Given the description of an element on the screen output the (x, y) to click on. 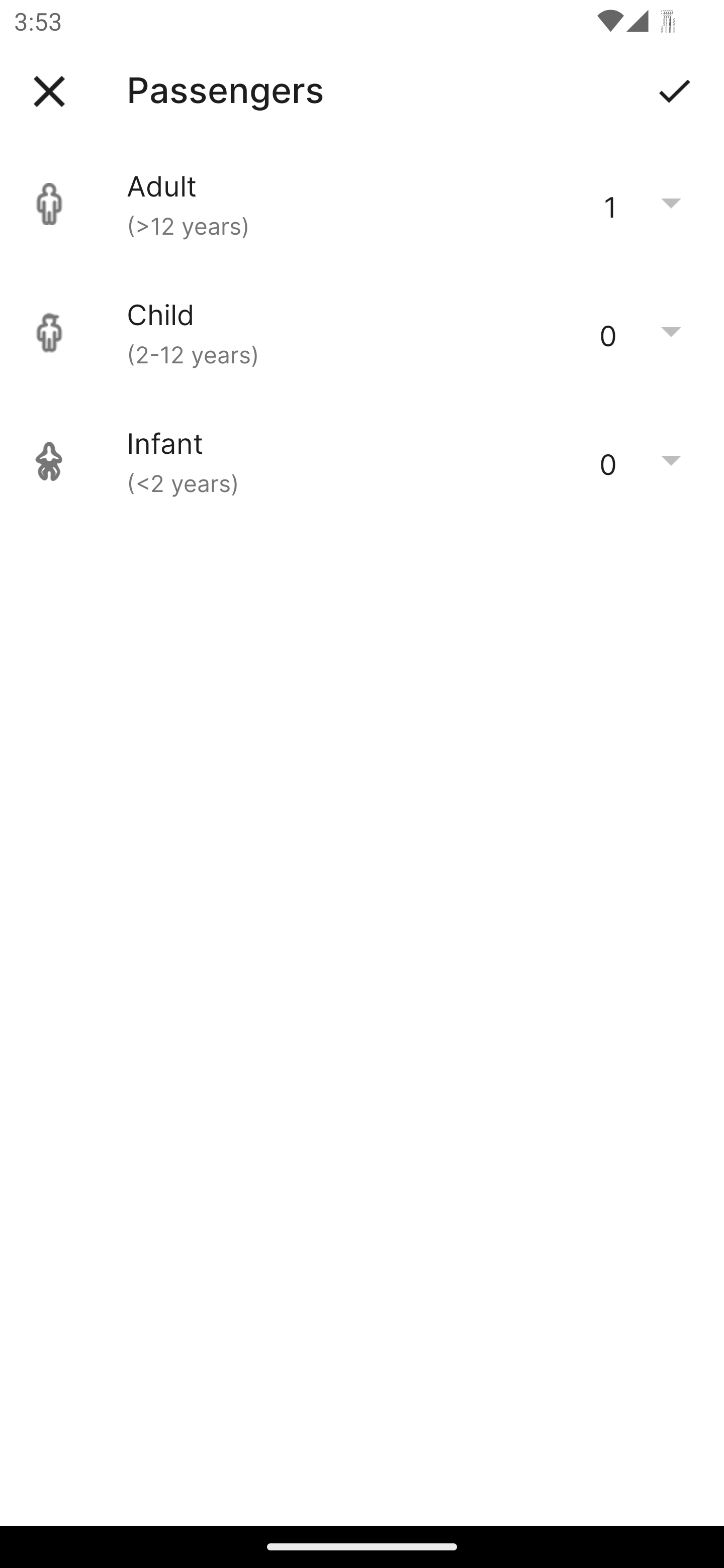
Adult (>12 years) 1 (362, 204)
Child (2-12 years) 0 (362, 332)
Infant (<2 years) 0 (362, 461)
